Given the description of an element on the screen output the (x, y) to click on. 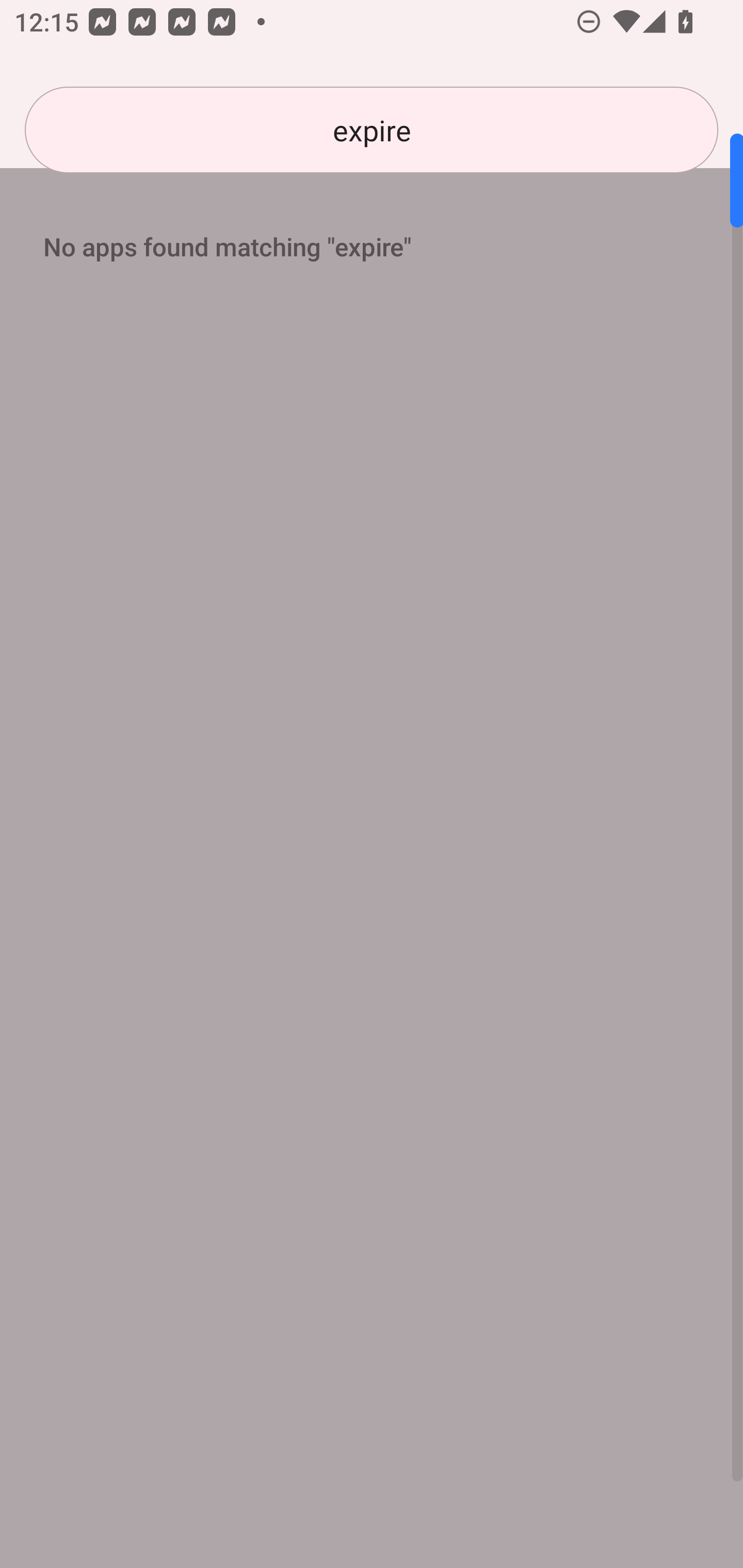
expire (371, 130)
